Given the description of an element on the screen output the (x, y) to click on. 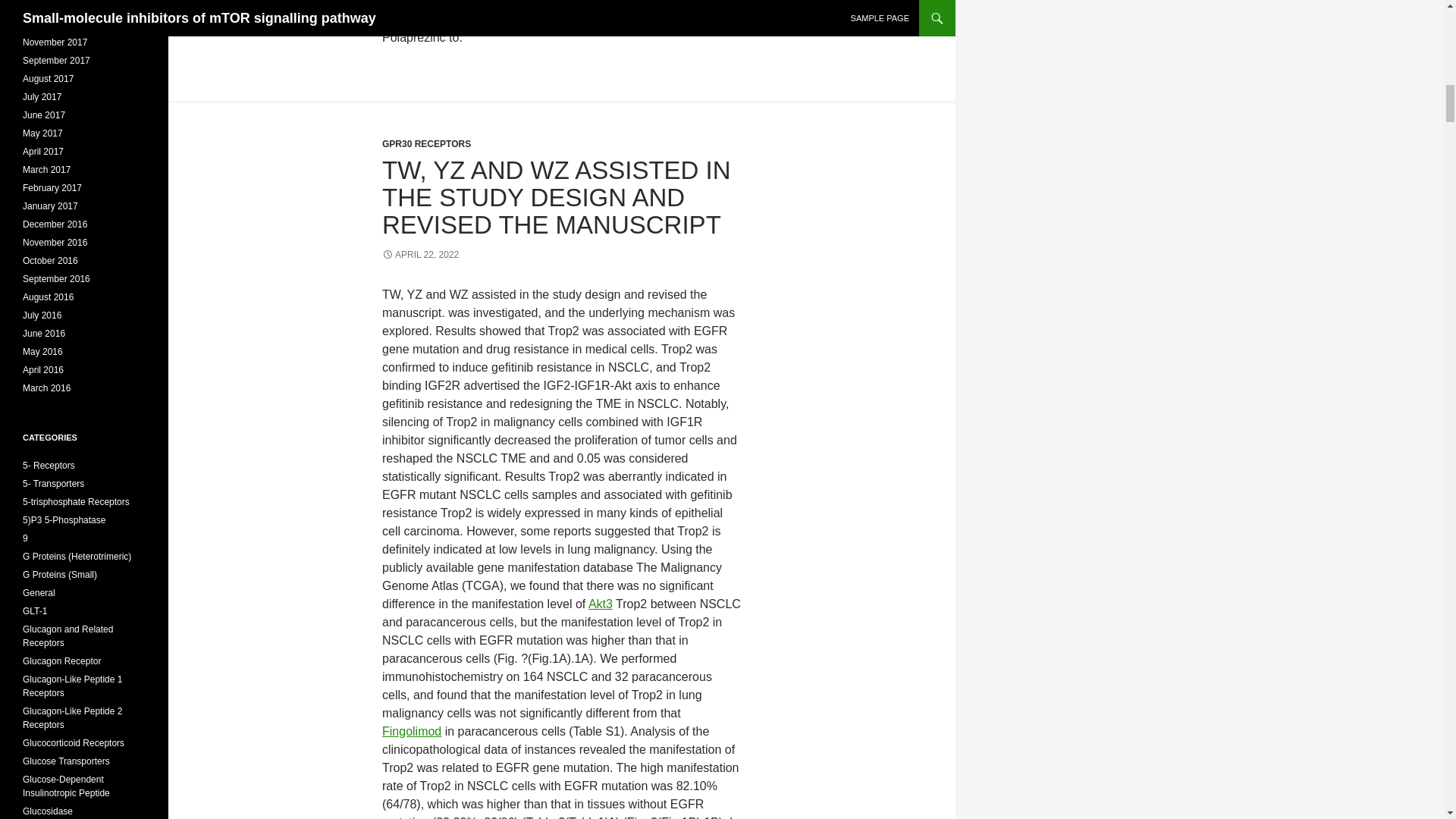
Fingolimod (411, 730)
APRIL 22, 2022 (419, 254)
GPR30 RECEPTORS (425, 143)
Akt3 (600, 603)
